Given the description of an element on the screen output the (x, y) to click on. 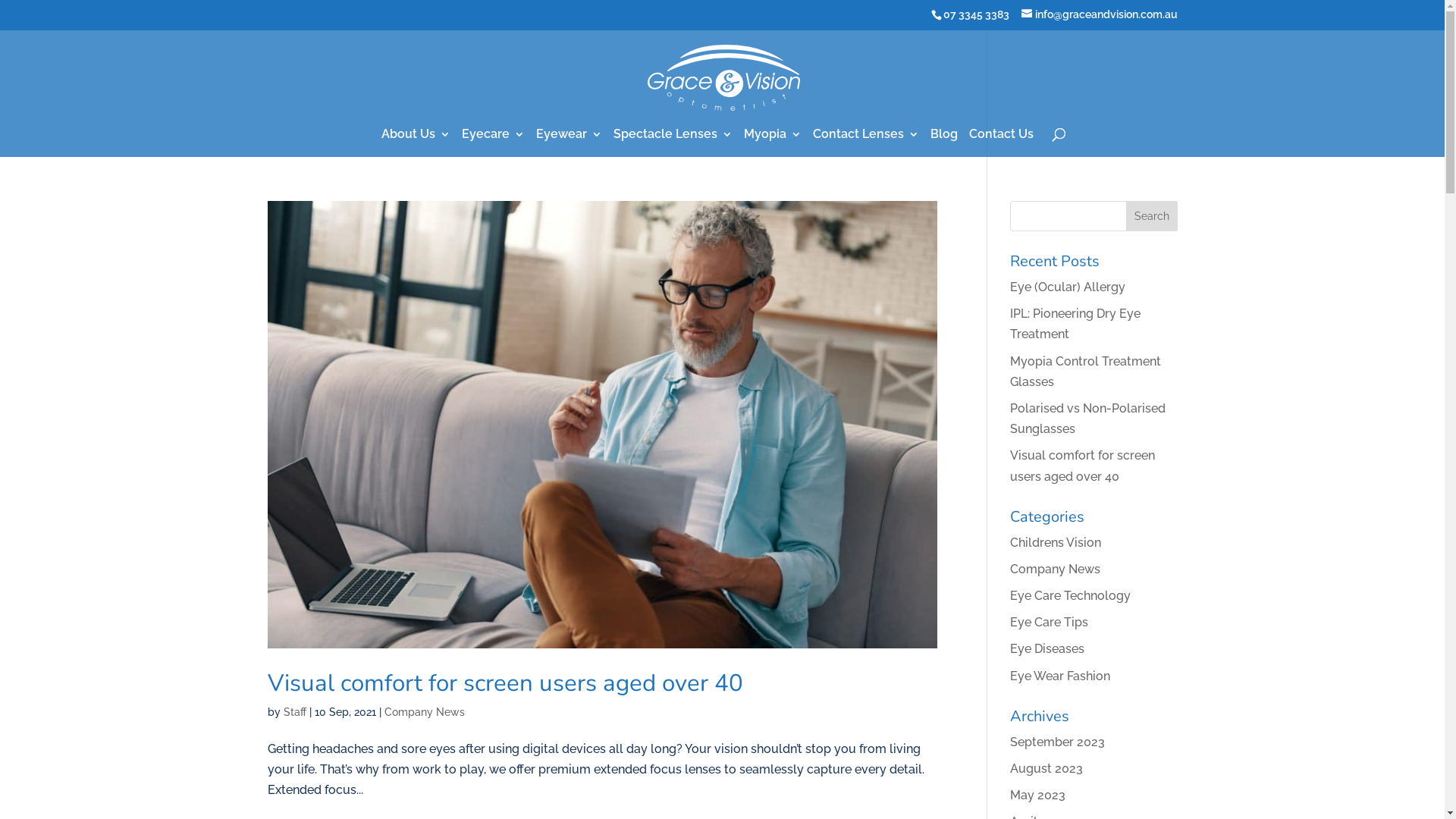
Eye (Ocular) Allergy Element type: text (1067, 286)
Staff Element type: text (294, 712)
Eye Care Technology Element type: text (1070, 595)
Eyecare Element type: text (492, 142)
Eye Wear Fashion Element type: text (1060, 675)
September 2023 Element type: text (1057, 741)
Contact Lenses Element type: text (865, 142)
Childrens Vision Element type: text (1055, 542)
info@graceandvision.com.au Element type: text (1098, 13)
Polarised vs Non-Polarised Sunglasses Element type: text (1087, 418)
About Us Element type: text (414, 142)
Spectacle Lenses Element type: text (671, 142)
Eyewear Element type: text (568, 142)
Company News Element type: text (1055, 568)
Eye Care Tips Element type: text (1049, 622)
Myopia Element type: text (771, 142)
Search Element type: text (1151, 215)
07 3345 3383 Element type: text (976, 13)
Visual comfort for screen users aged over 40 Element type: text (504, 682)
Company News Element type: text (423, 712)
Eye Diseases Element type: text (1047, 648)
Blog Element type: text (943, 142)
IPL: Pioneering Dry Eye Treatment Element type: text (1075, 323)
Contact Us Element type: text (1001, 142)
Myopia Control Treatment Glasses Element type: text (1085, 371)
August 2023 Element type: text (1046, 768)
Visual comfort for screen users aged over 40 Element type: text (1082, 465)
May 2023 Element type: text (1037, 794)
